Given the description of an element on the screen output the (x, y) to click on. 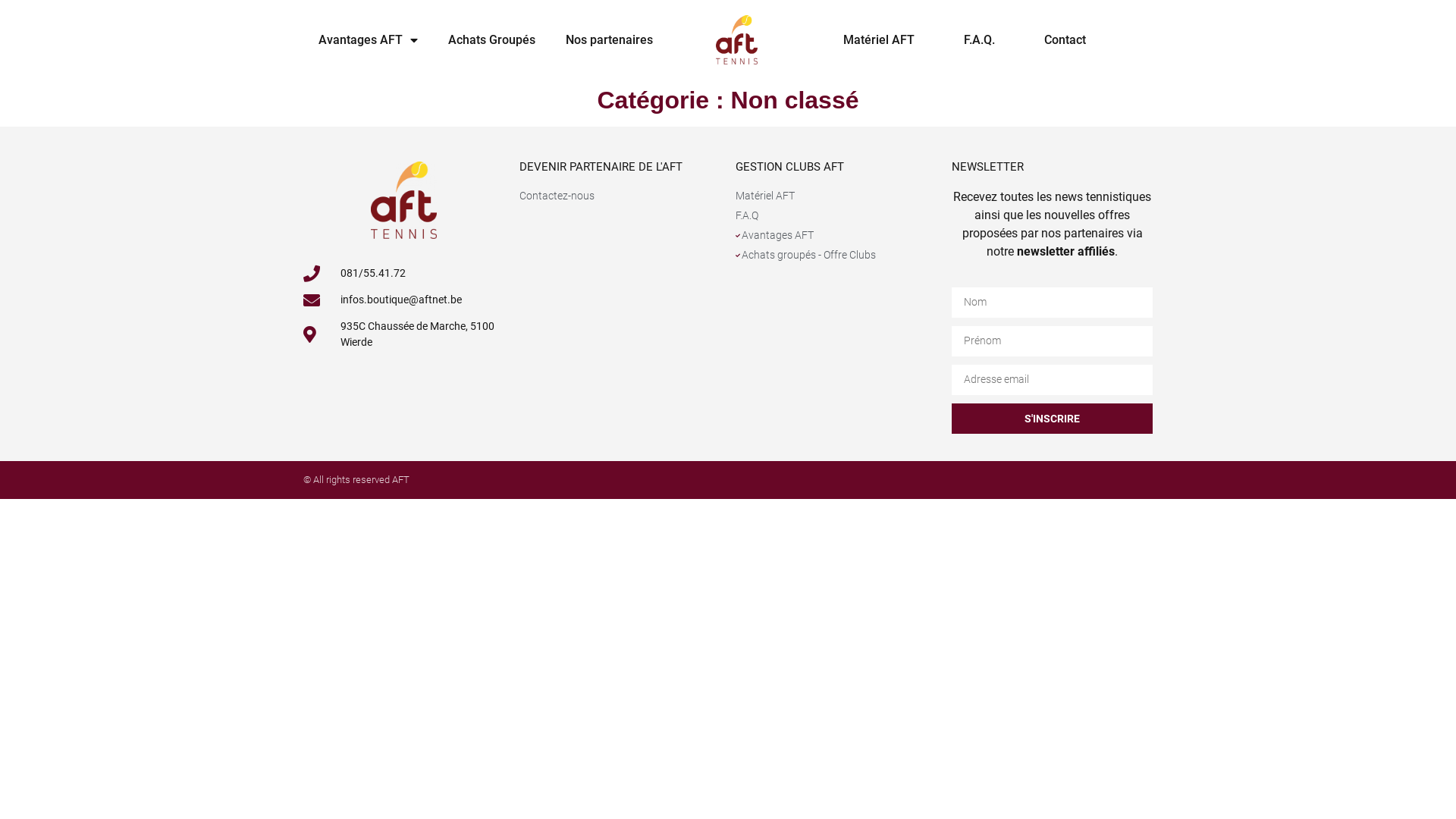
Contactez-nous Element type: text (619, 195)
S'INSCRIRE Element type: text (1051, 418)
Nos partenaires Element type: text (609, 39)
Avantages AFT Element type: text (368, 39)
F.A.Q Element type: text (835, 215)
F.A.Q. Element type: text (979, 39)
Contact Element type: text (1065, 39)
Avantages AFT Element type: text (835, 235)
